Given the description of an element on the screen output the (x, y) to click on. 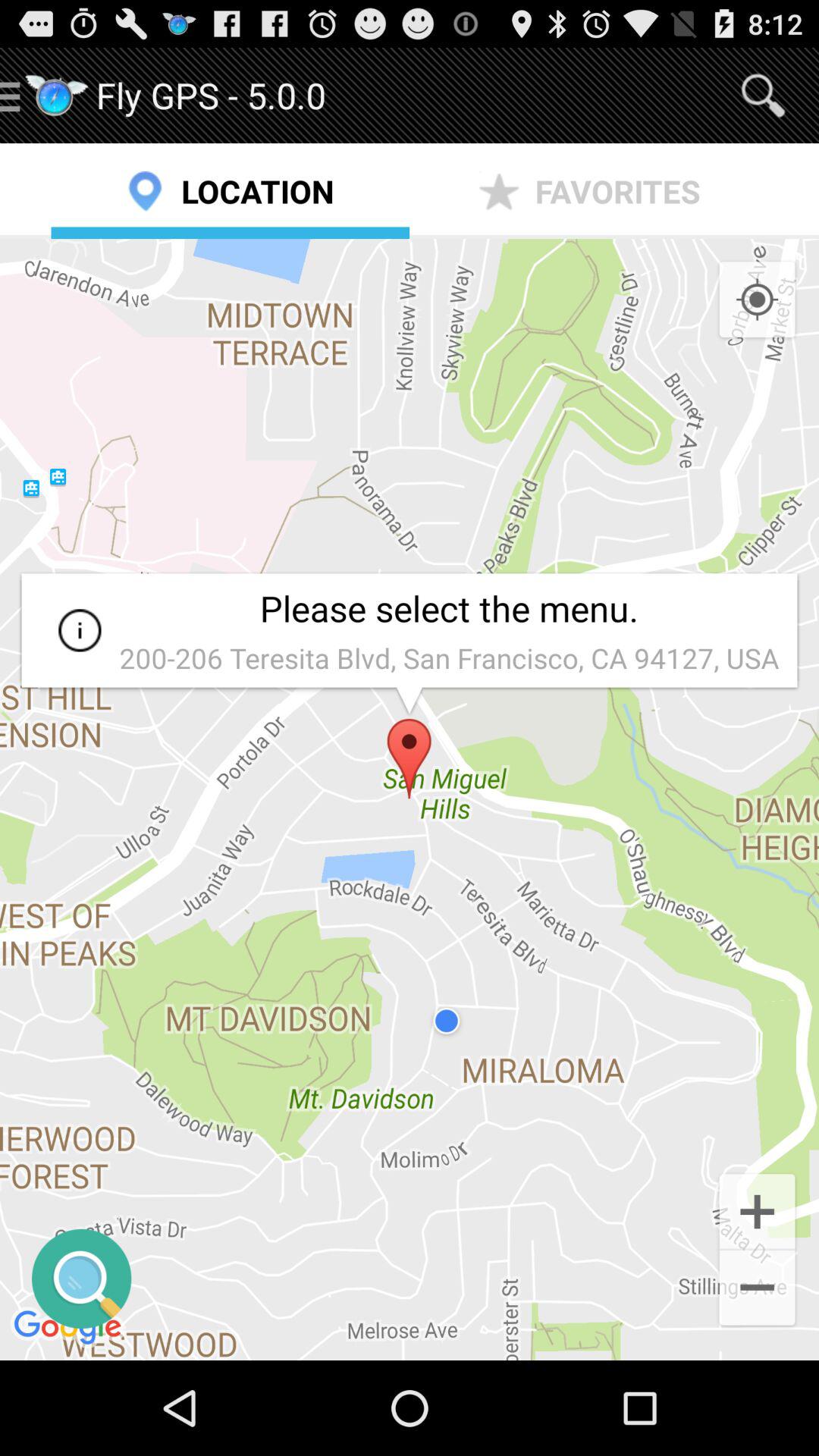
turn on item next to the fly gps 5 item (763, 95)
